Given the description of an element on the screen output the (x, y) to click on. 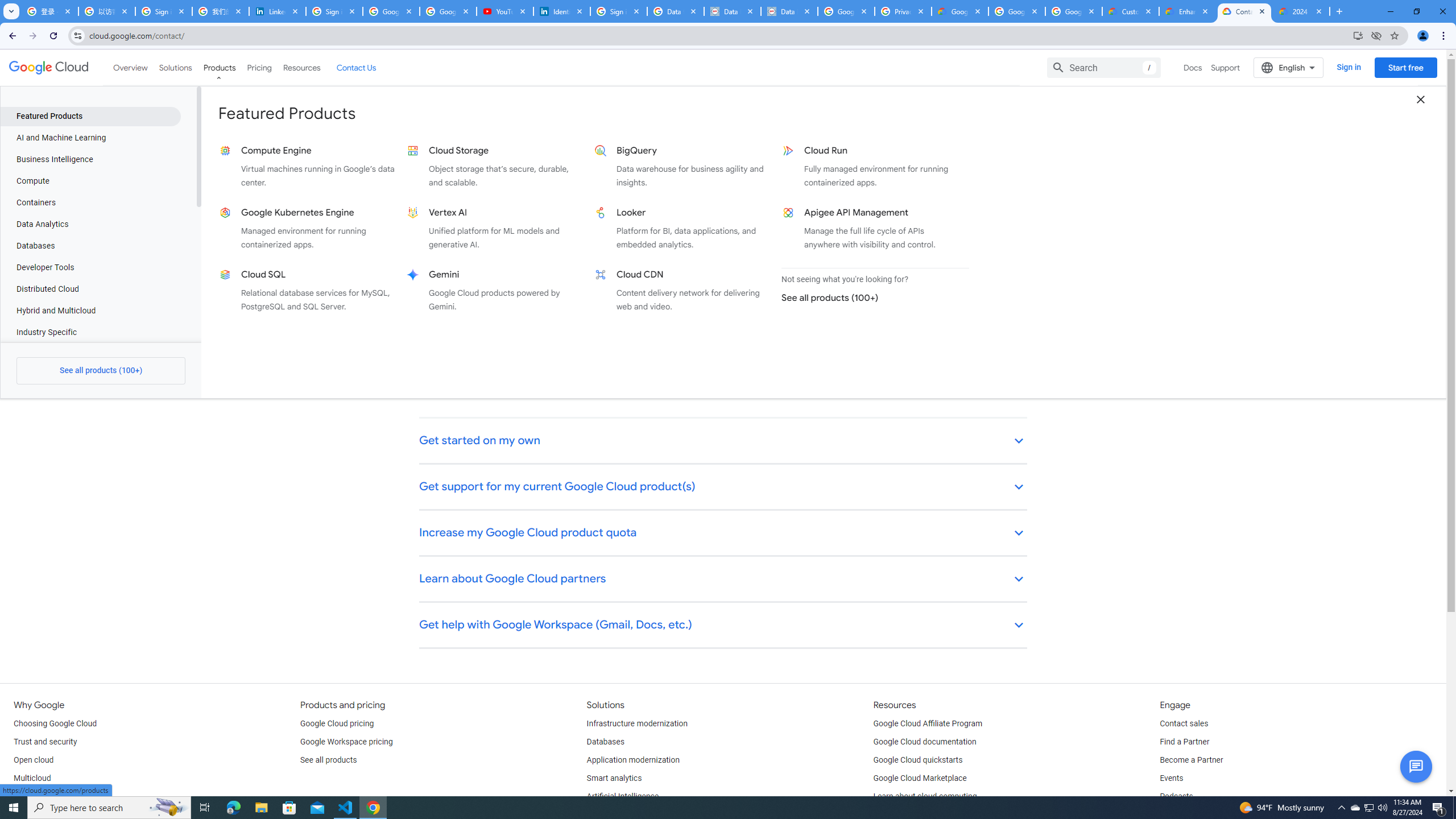
Google Cloud quickstarts (917, 760)
Talk to a Google Cloud sales specialist keyboard_arrow_up (723, 195)
Artificial Intelligence (622, 796)
Increase my Google Cloud product quota keyboard_arrow_down (723, 533)
Gemini Google Cloud products powered by Gemini. (495, 290)
Sign in - Google Accounts (618, 11)
Sign in - Google Accounts (334, 11)
Solutions (175, 67)
See all products (327, 760)
Become a Partner (1190, 760)
Distributed Cloud (90, 289)
